Given the description of an element on the screen output the (x, y) to click on. 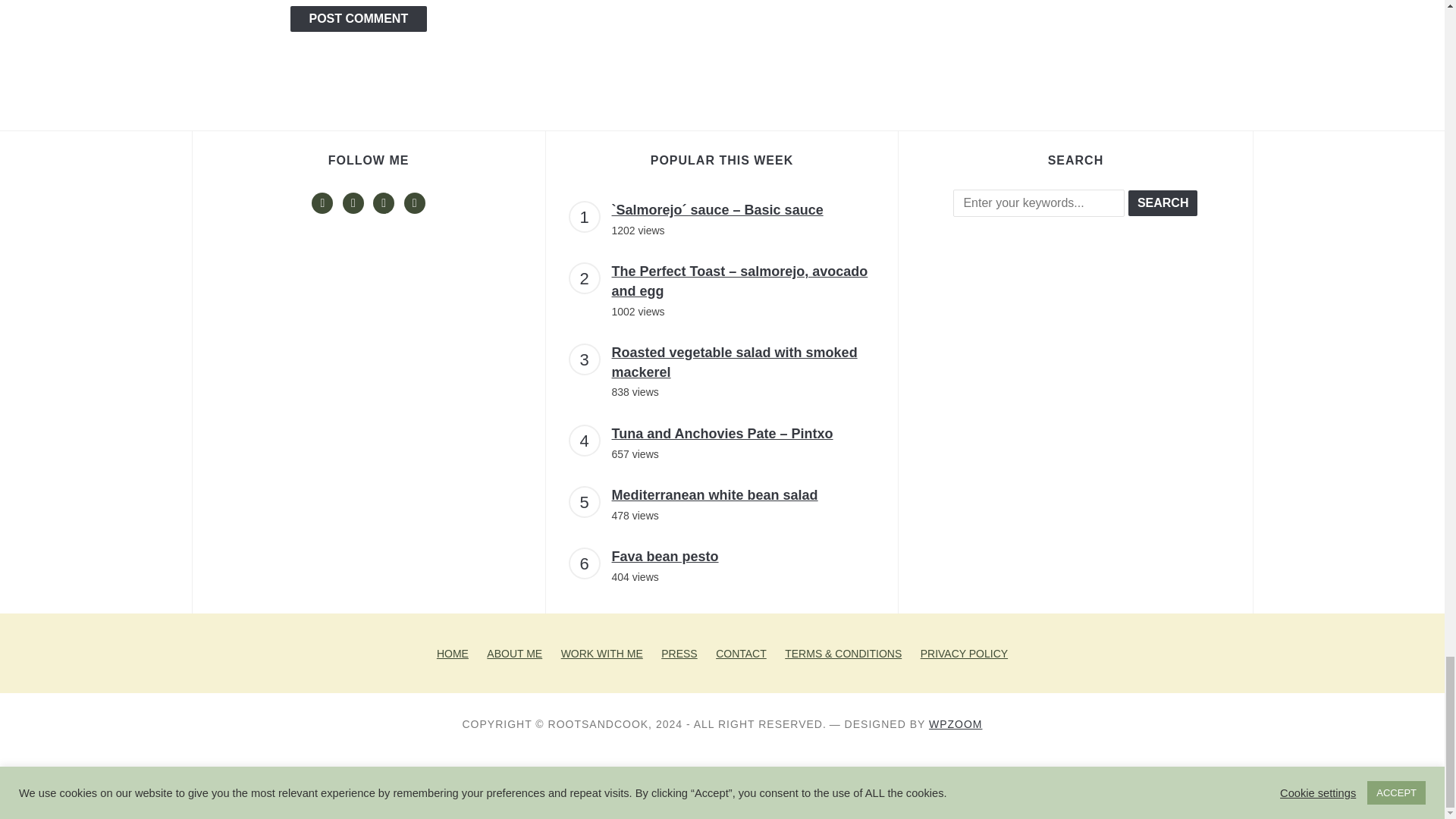
Search (1163, 203)
Search (1163, 203)
Post Comment (357, 18)
